Given the description of an element on the screen output the (x, y) to click on. 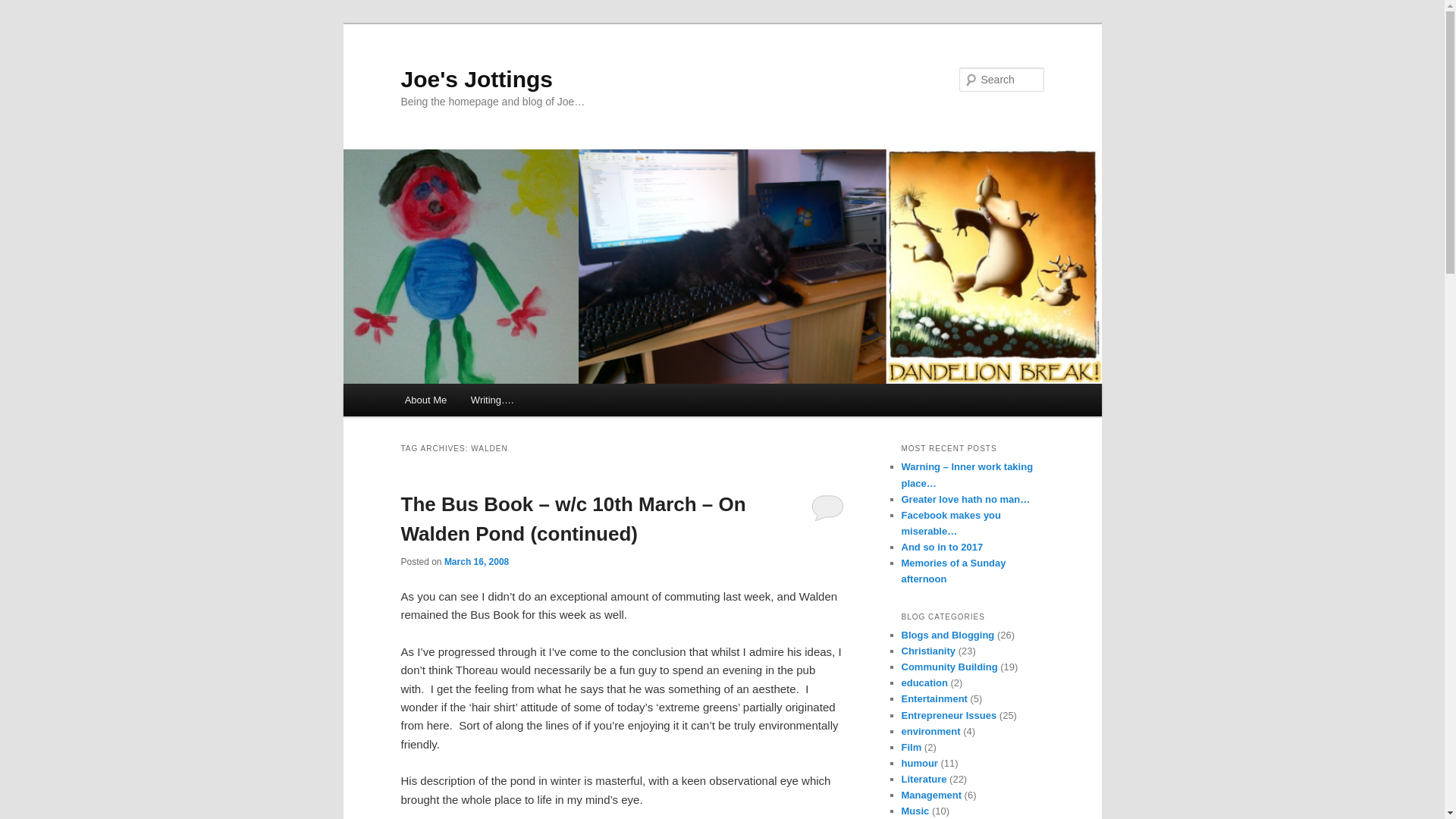
Memories of a Sunday afternoon (953, 570)
And so in to 2017 (941, 546)
About Me (425, 400)
Joe's Jottings (476, 78)
4:37 pm (476, 561)
March 16, 2008 (476, 561)
Search (24, 8)
